Given the description of an element on the screen output the (x, y) to click on. 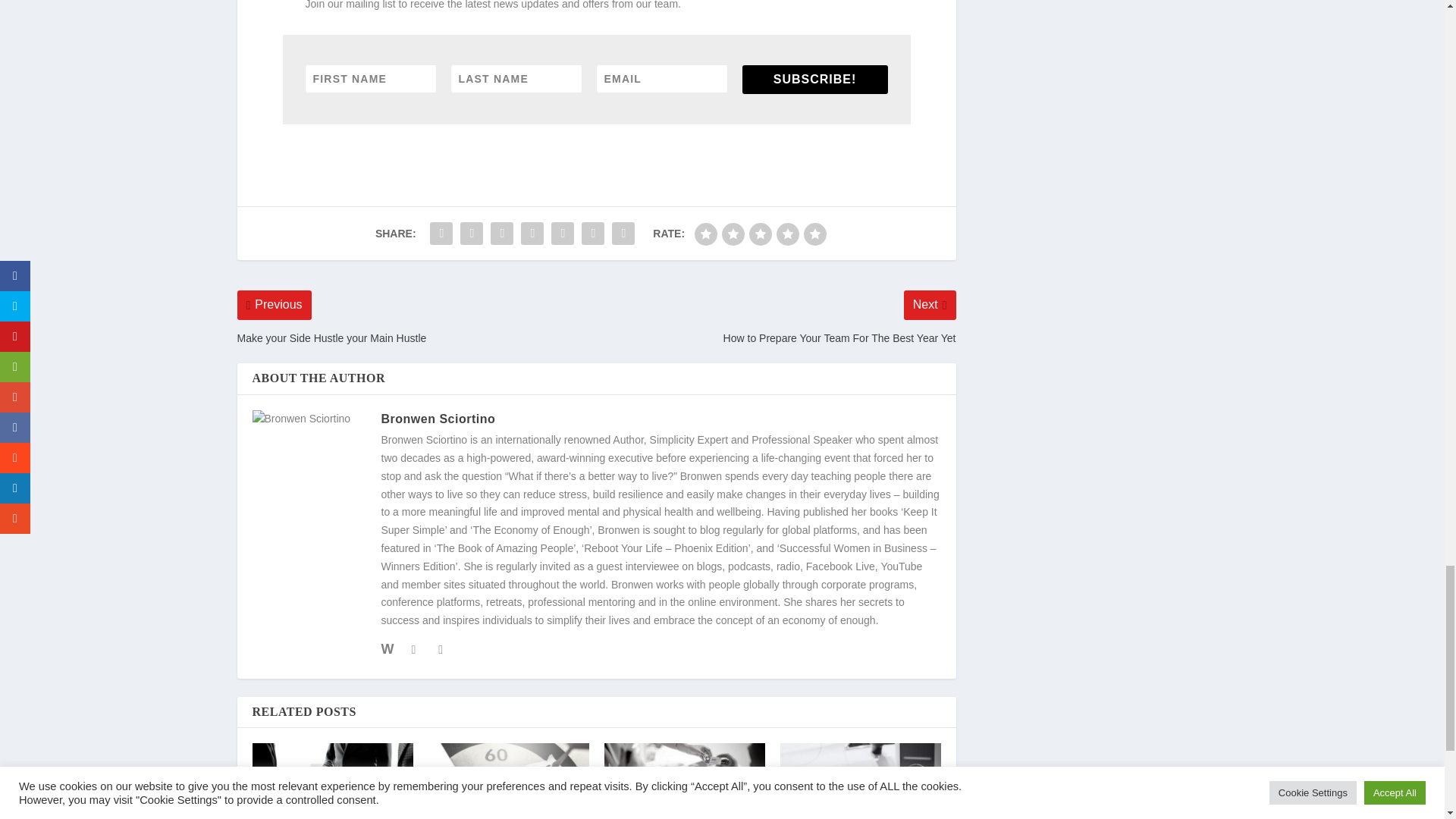
SUBSCRIBE! (813, 79)
